Given the description of an element on the screen output the (x, y) to click on. 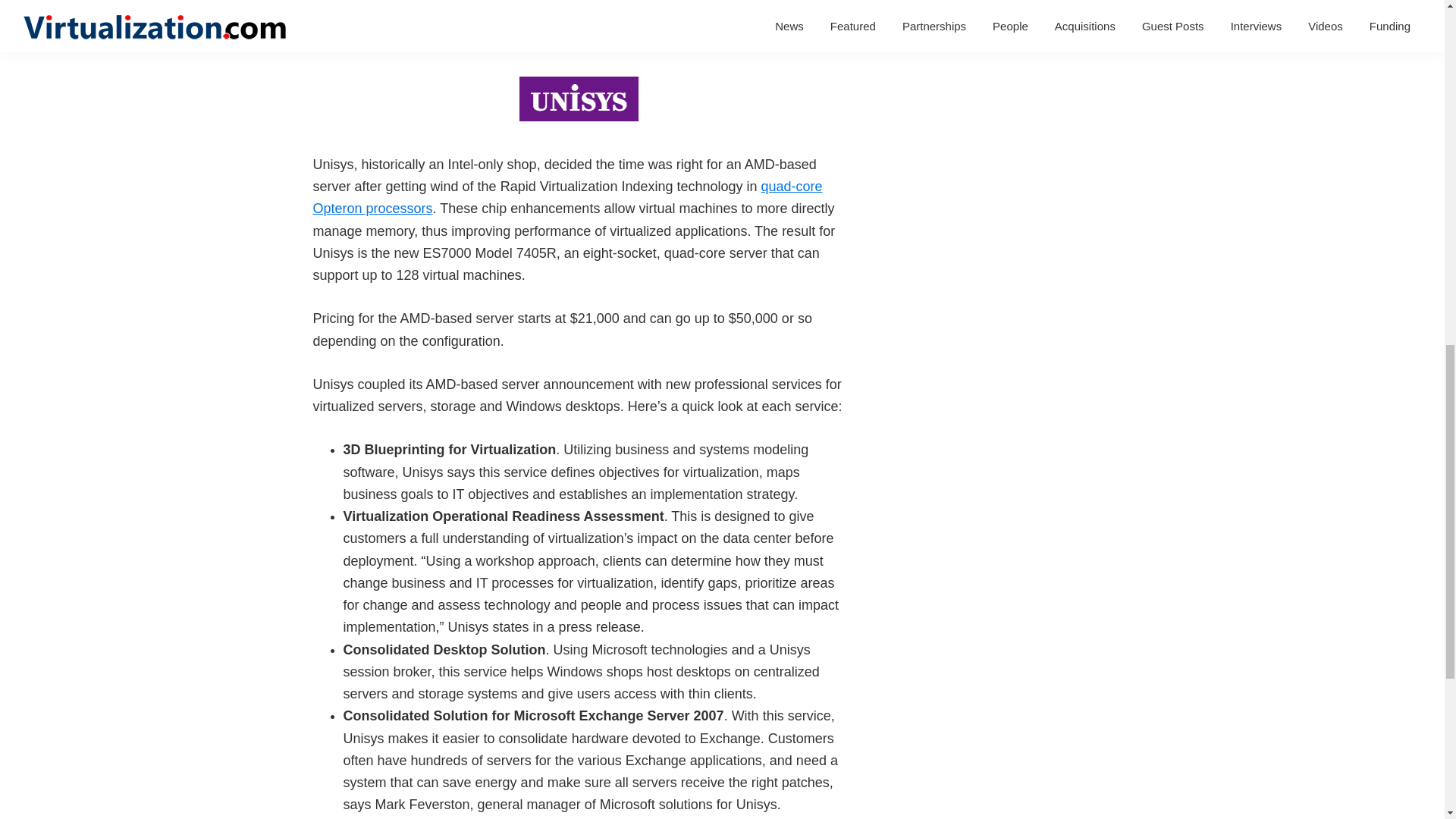
Unisys (333, 3)
AMD (825, 3)
unisys (579, 98)
quad-core Opteron processors (567, 197)
Network World (561, 31)
